Given the description of an element on the screen output the (x, y) to click on. 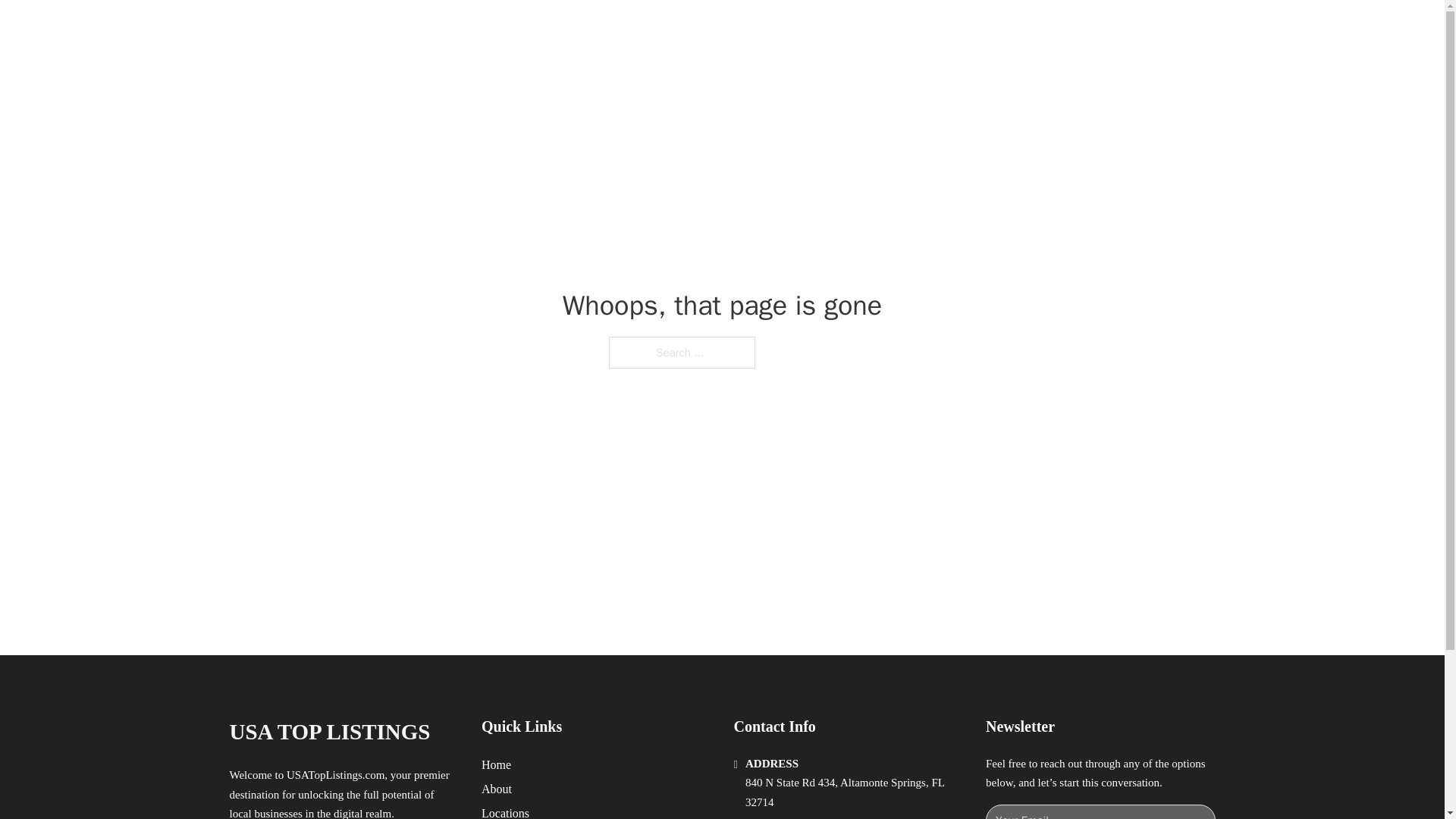
USATopListings.com (335, 775)
USA TOP LISTINGS (403, 28)
HOME (919, 29)
Home (496, 764)
Locations (505, 811)
LOCATIONS (990, 29)
About (496, 788)
USA TOP LISTINGS (328, 732)
